Given the description of an element on the screen output the (x, y) to click on. 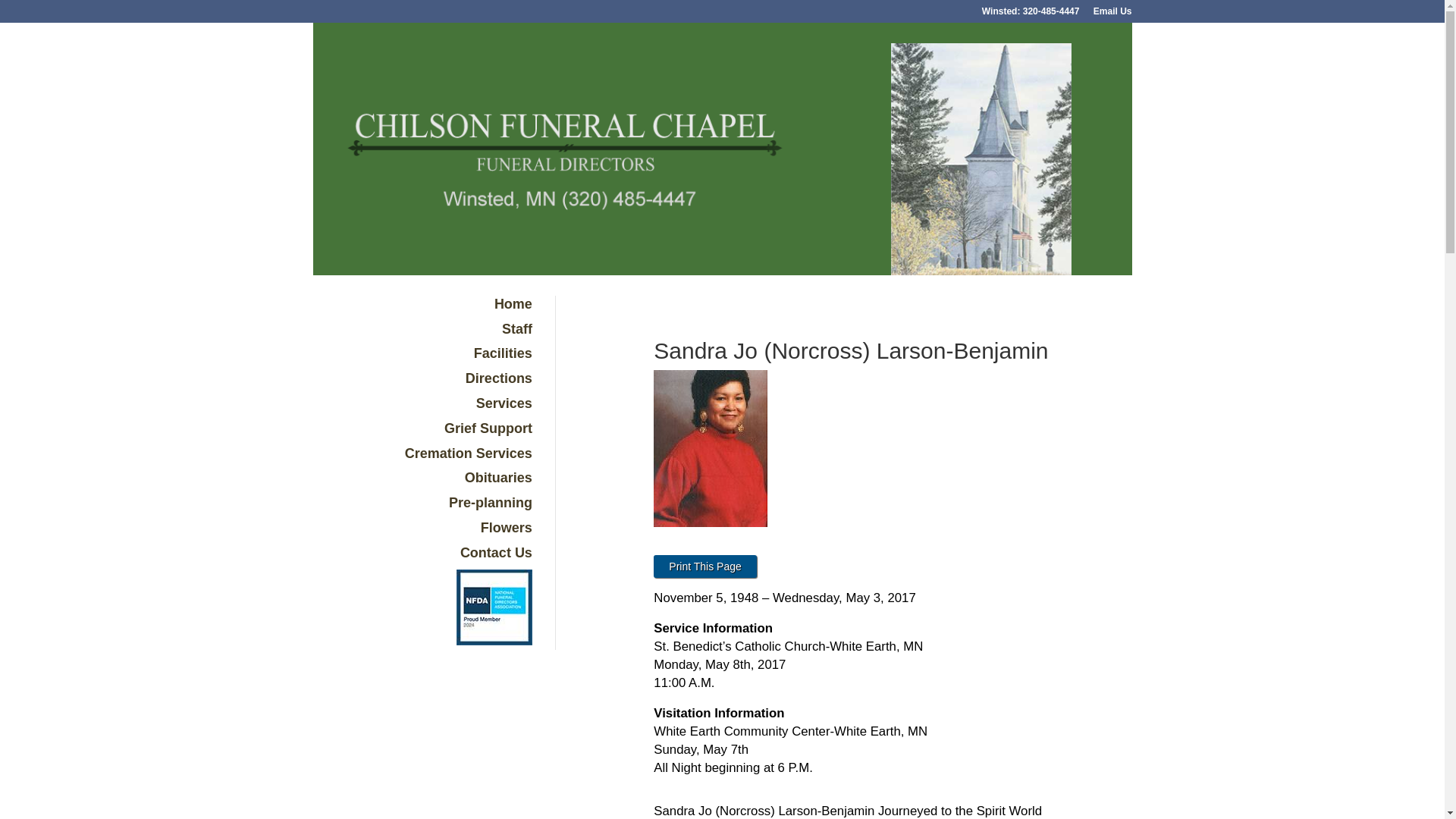
Directions (498, 378)
Pre-planning (490, 502)
Services (504, 403)
Contact Us (496, 552)
Email Us (1112, 14)
Home (513, 304)
Cremation Services (468, 453)
Grief Support (488, 427)
Obituaries (498, 477)
Flowers (506, 527)
Winsted: 320-485-4447 (1030, 14)
Facilities (503, 353)
Staff (517, 328)
